Given the description of an element on the screen output the (x, y) to click on. 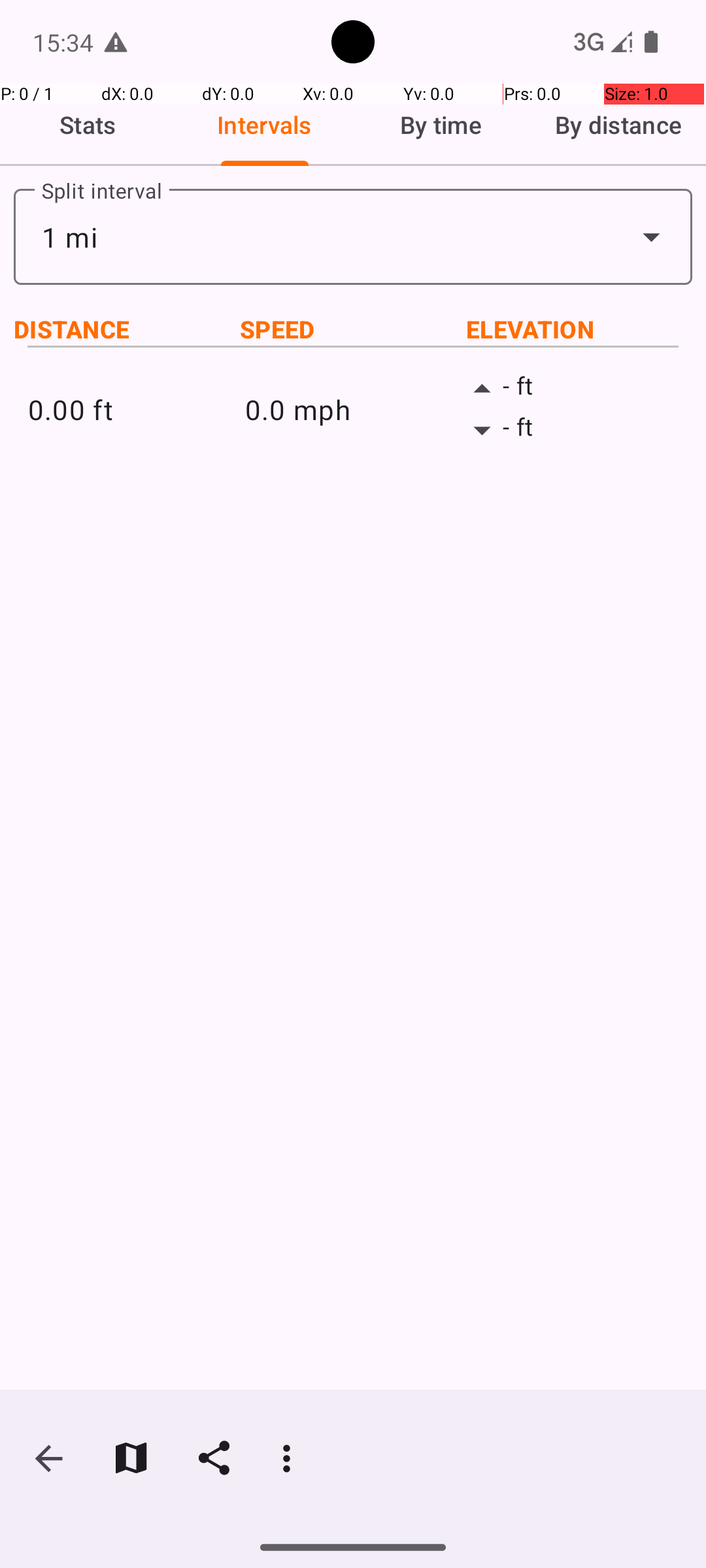
0.0 mph Element type: android.widget.TextView (352, 408)
